Given the description of an element on the screen output the (x, y) to click on. 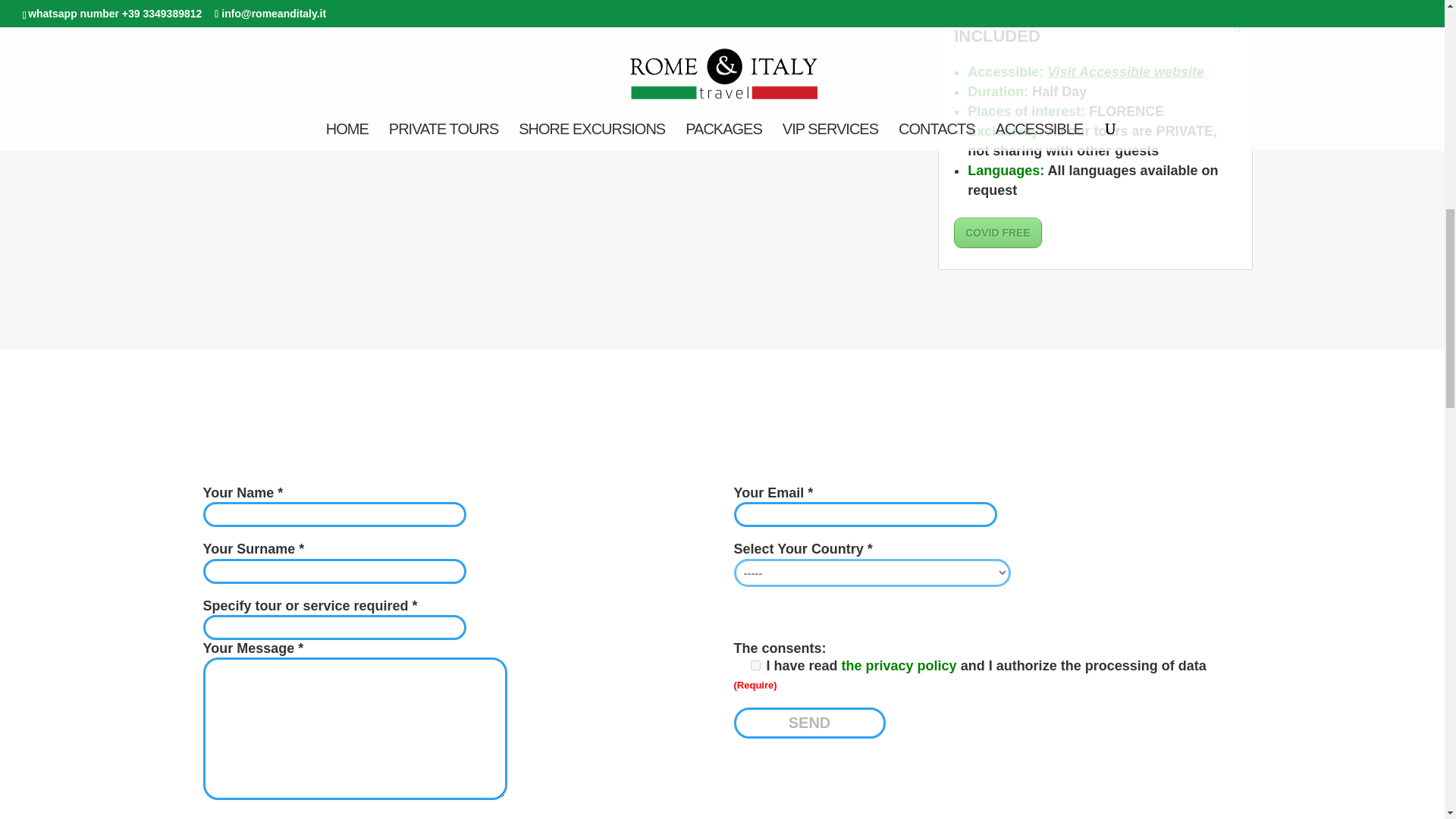
Send (809, 722)
the privacy policy (900, 665)
COVID FREE (997, 232)
Visit Accessible website (1125, 71)
1 (755, 665)
Send (809, 722)
